Given the description of an element on the screen output the (x, y) to click on. 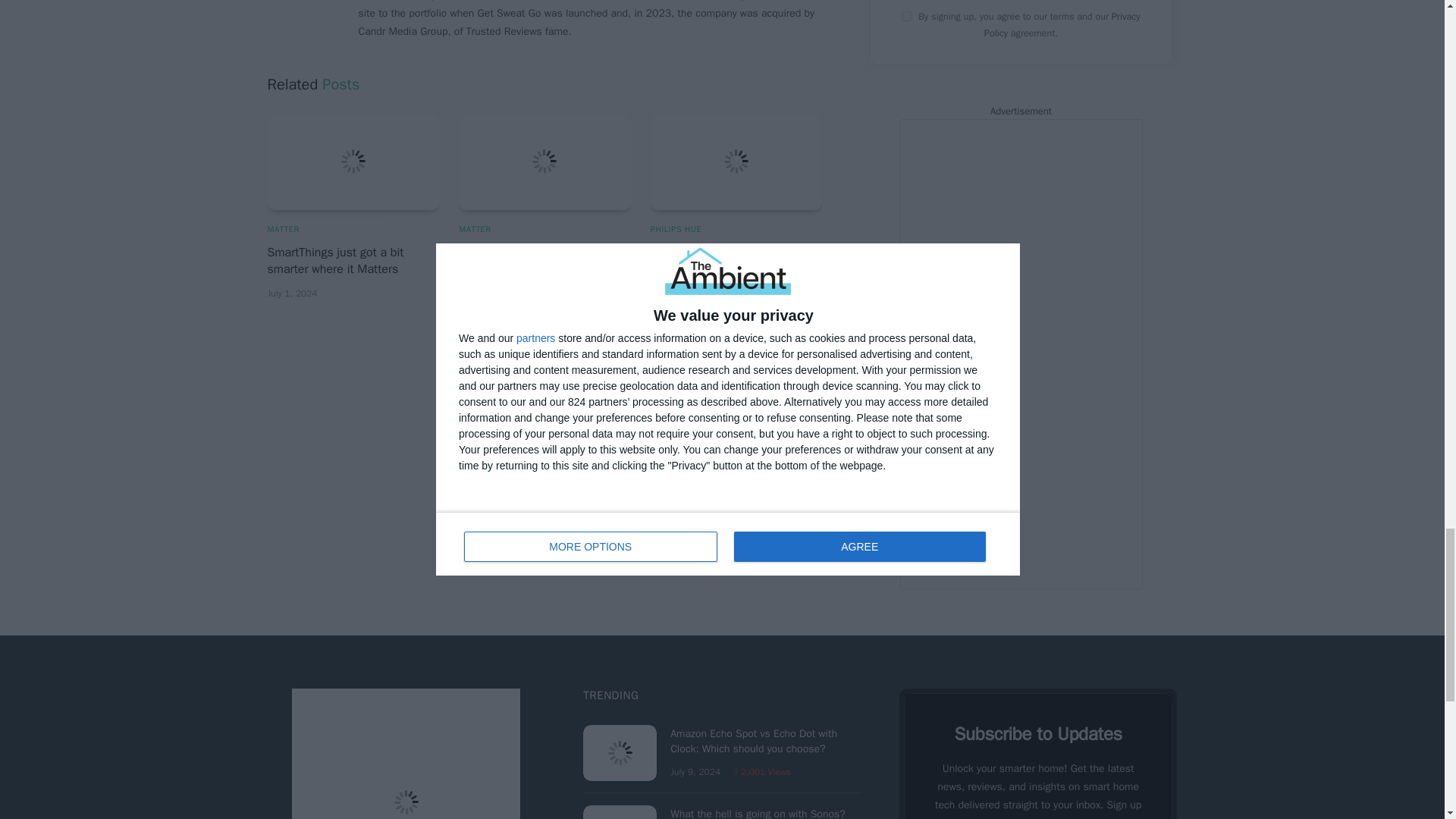
on (906, 16)
